Given the description of an element on the screen output the (x, y) to click on. 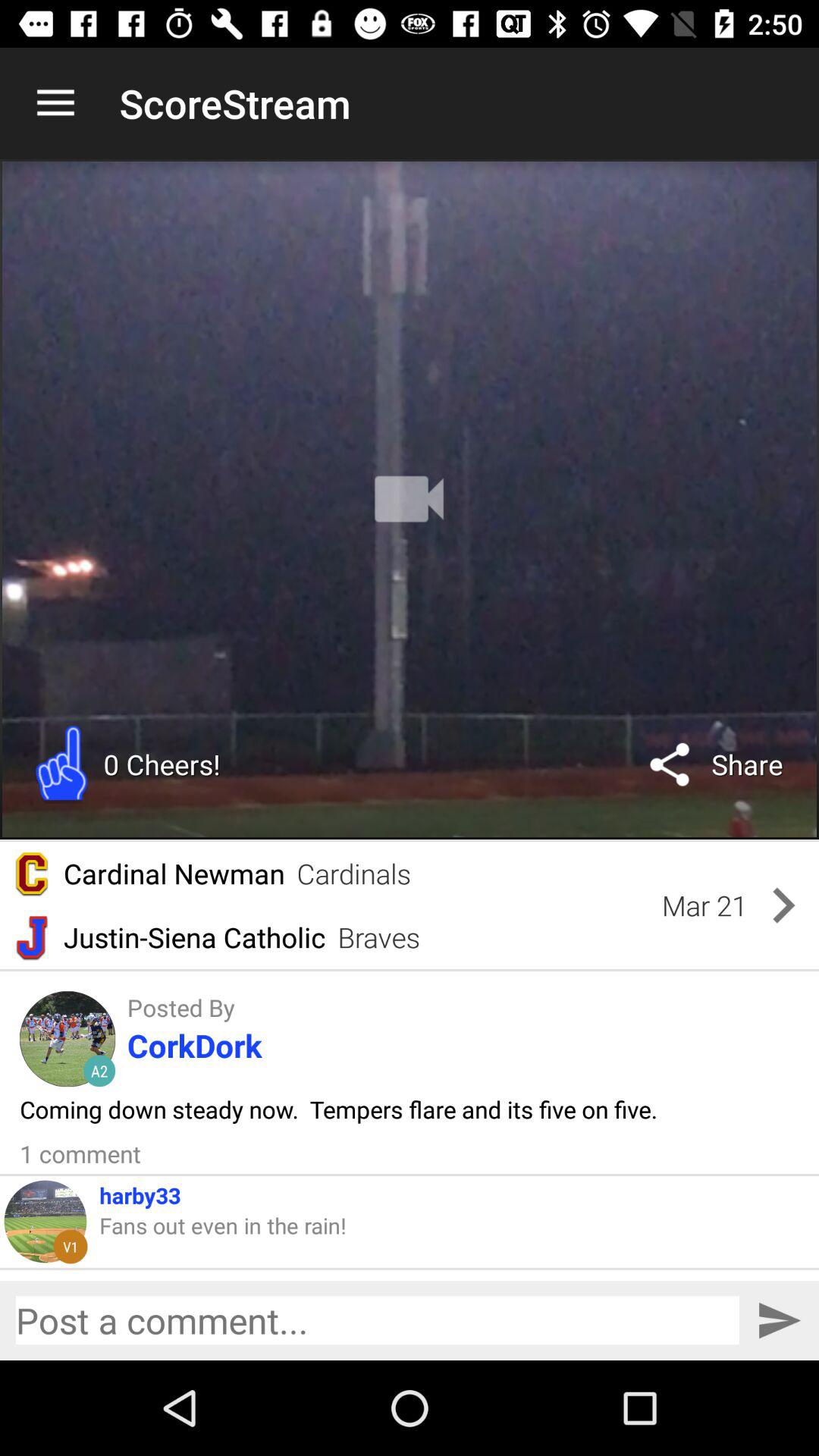
enter text comment (377, 1320)
